Given the description of an element on the screen output the (x, y) to click on. 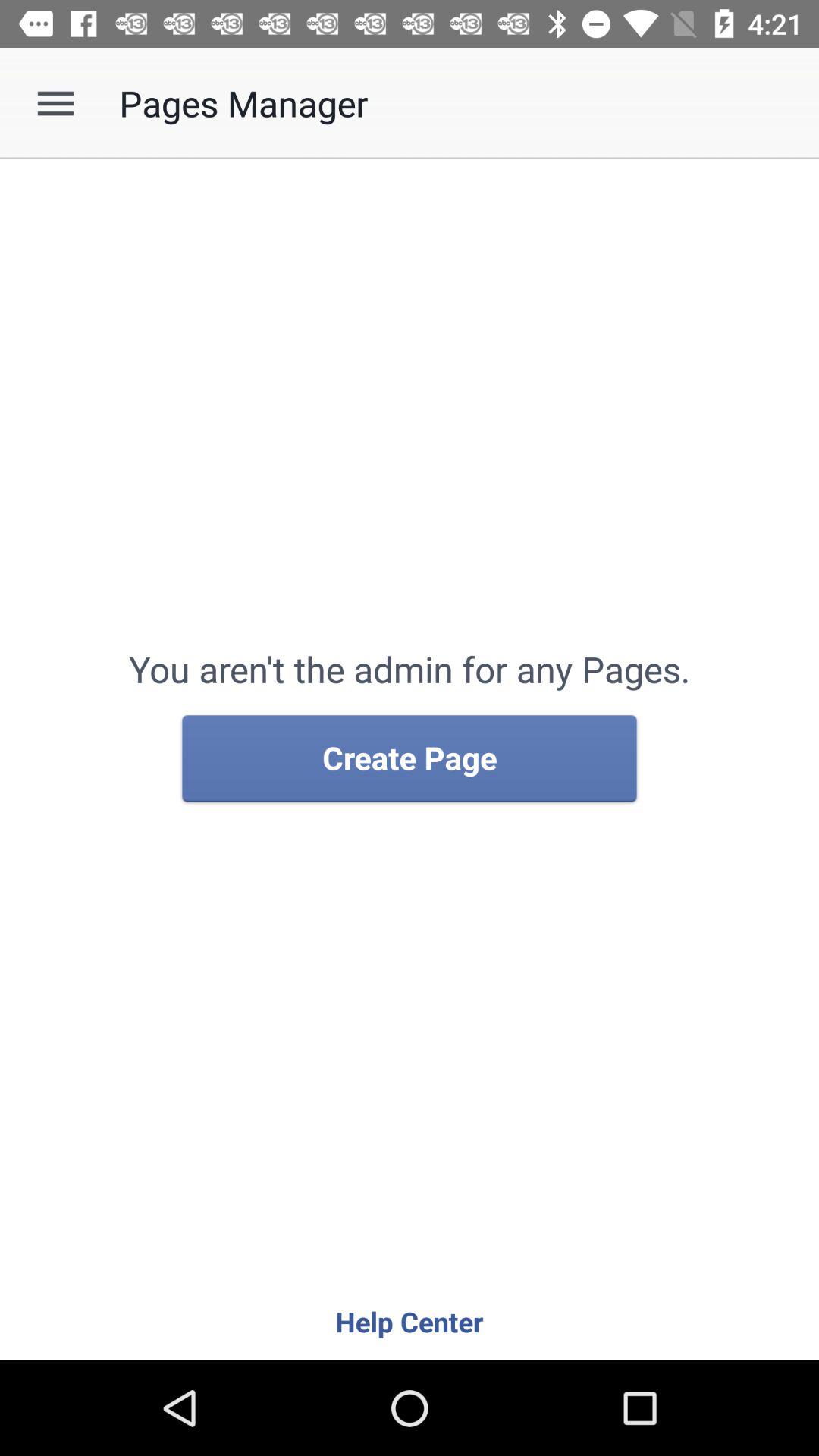
press the icon below you aren t icon (409, 759)
